Given the description of an element on the screen output the (x, y) to click on. 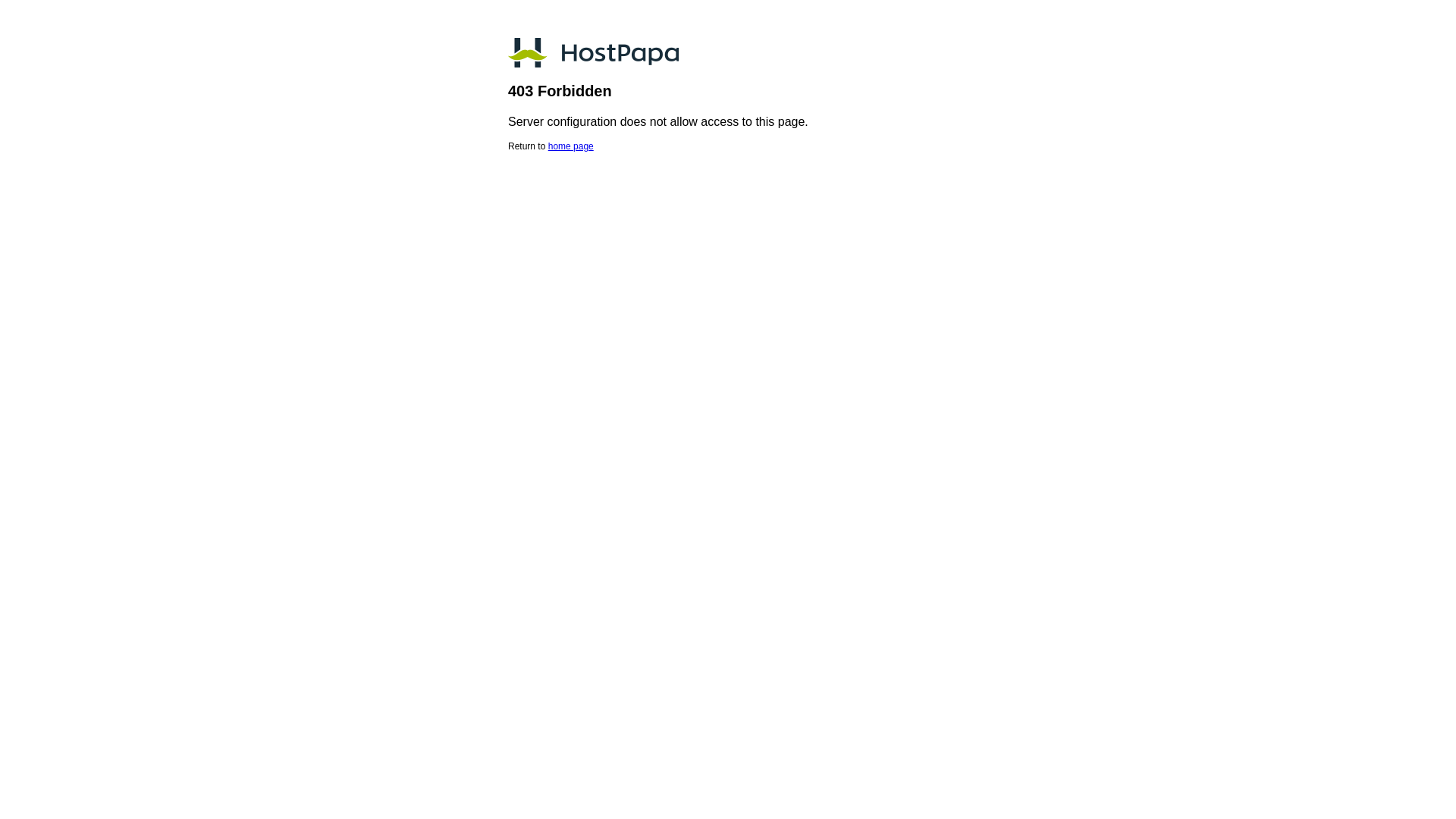
home page Element type: text (570, 146)
